Given the description of an element on the screen output the (x, y) to click on. 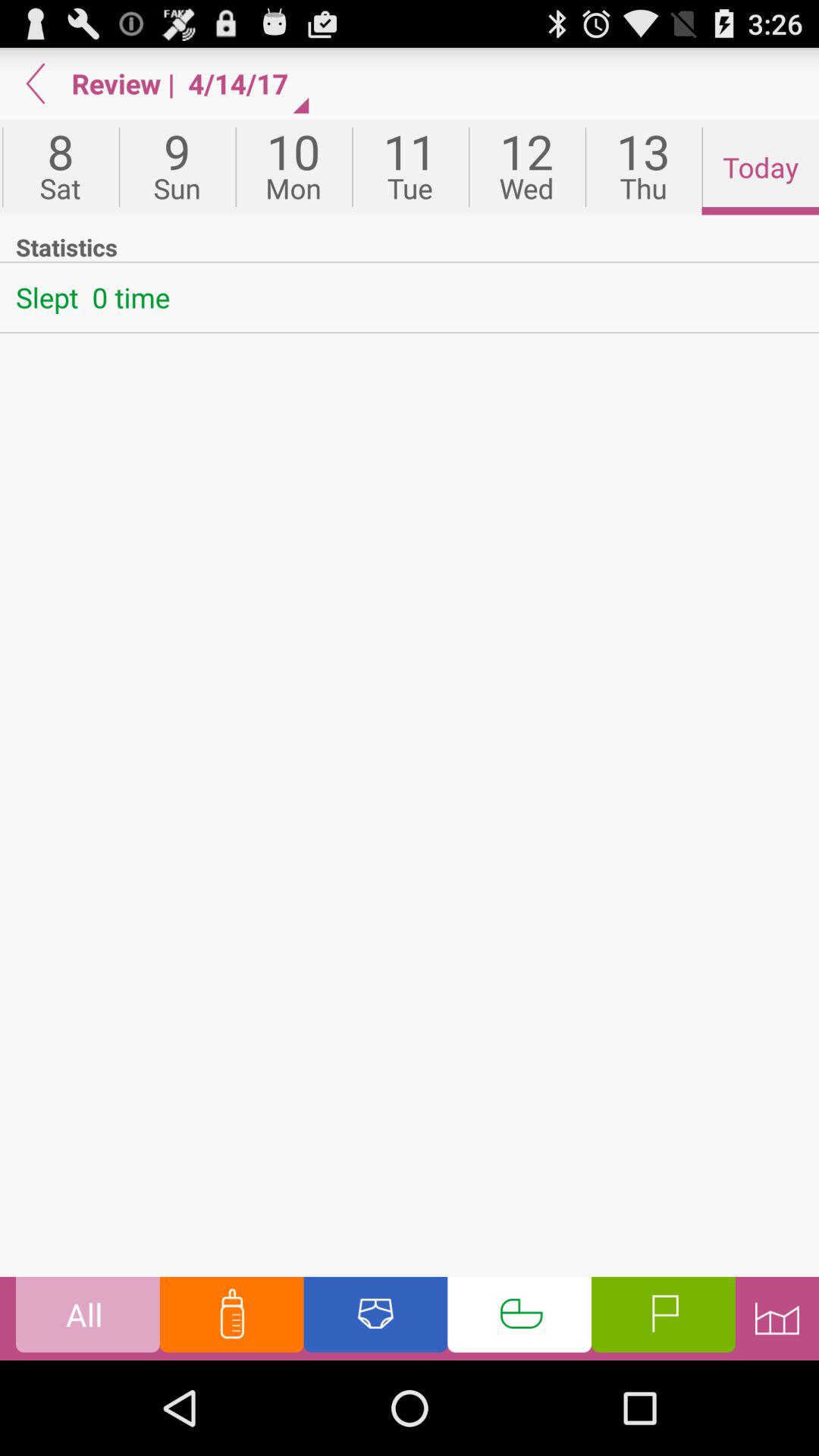
scroll until statistics (409, 246)
